Given the description of an element on the screen output the (x, y) to click on. 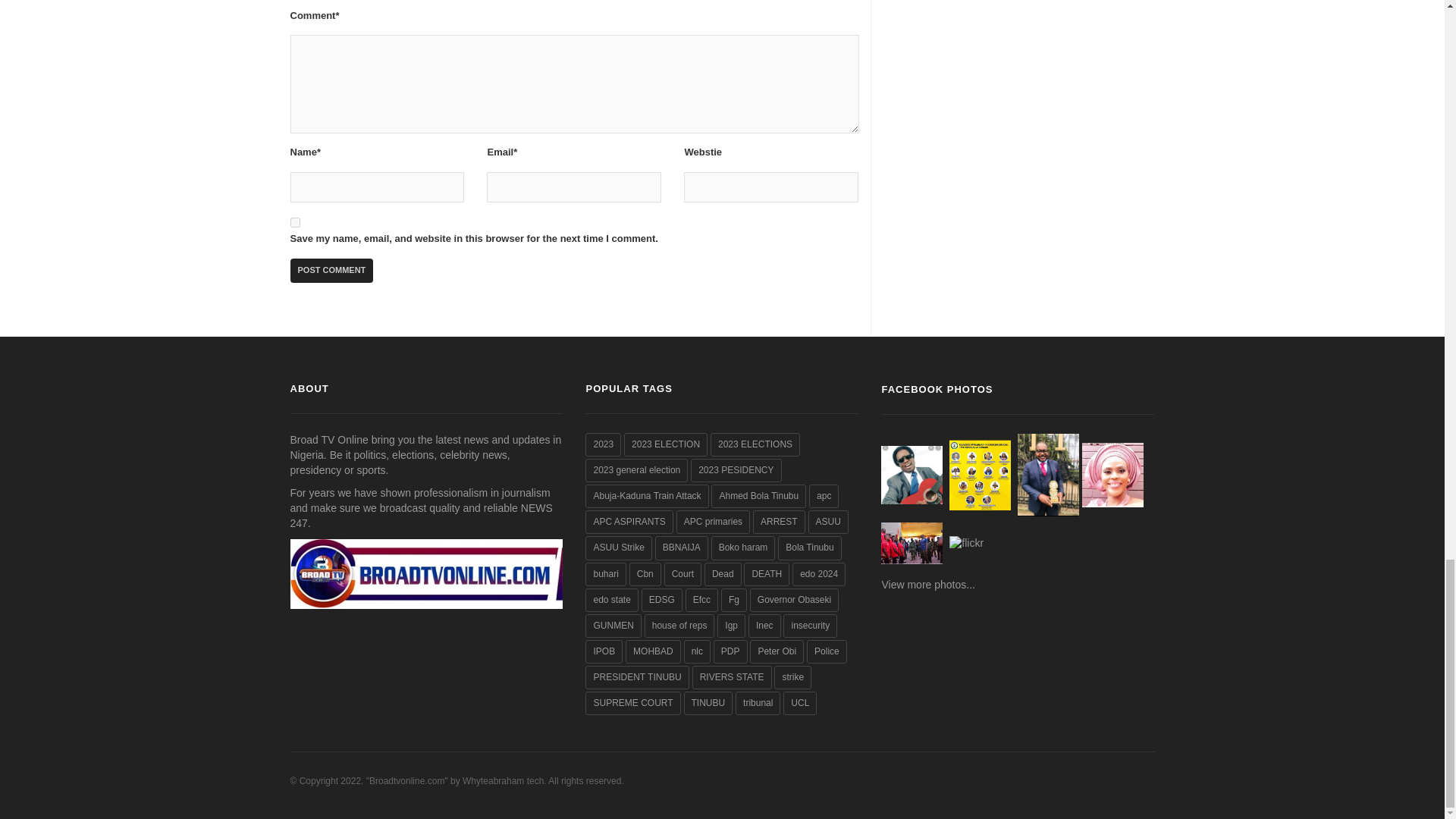
Post Comment (330, 270)
yes (294, 222)
